Given the description of an element on the screen output the (x, y) to click on. 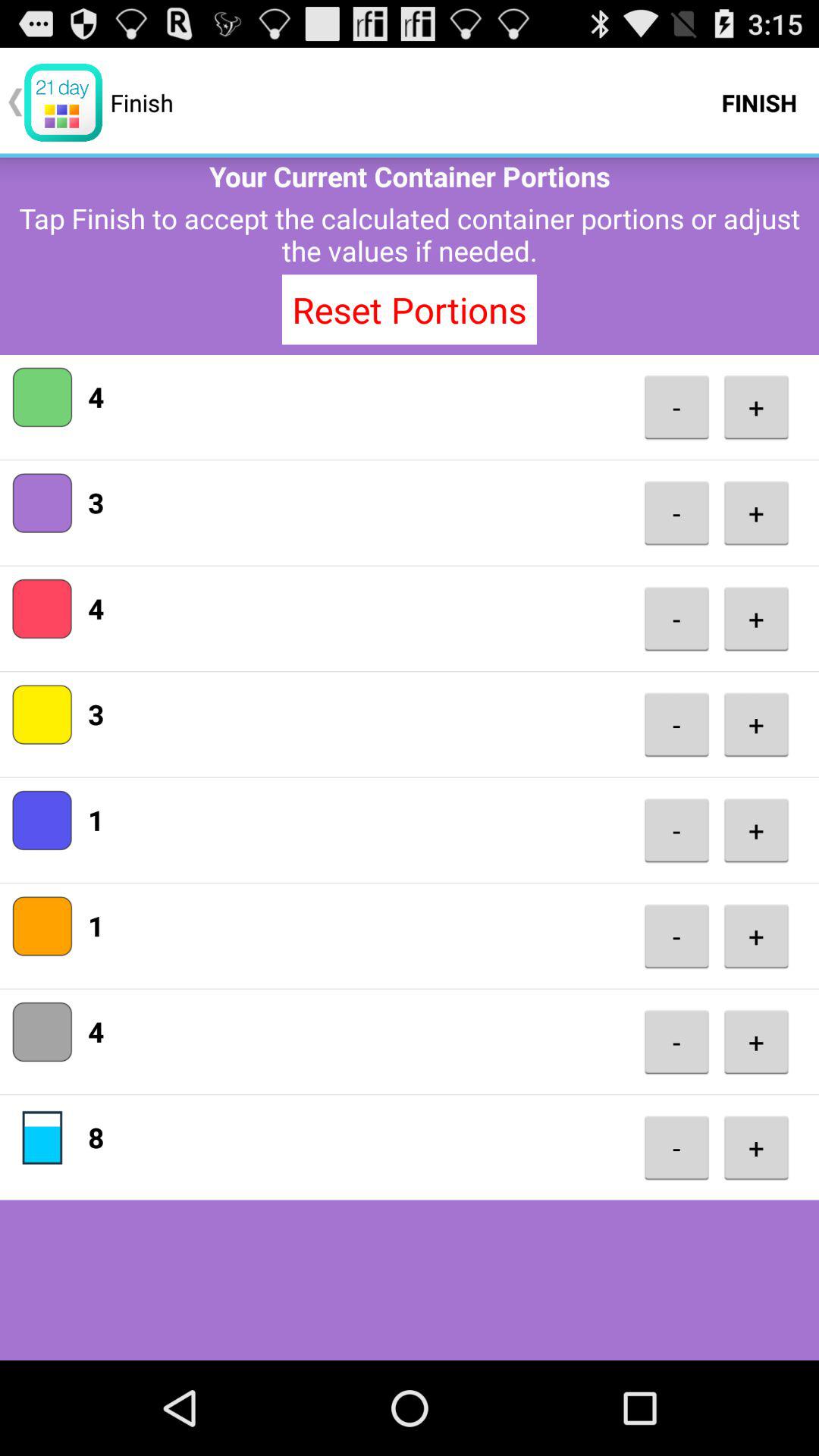
turn off item to the left of + (676, 1147)
